Given the description of an element on the screen output the (x, y) to click on. 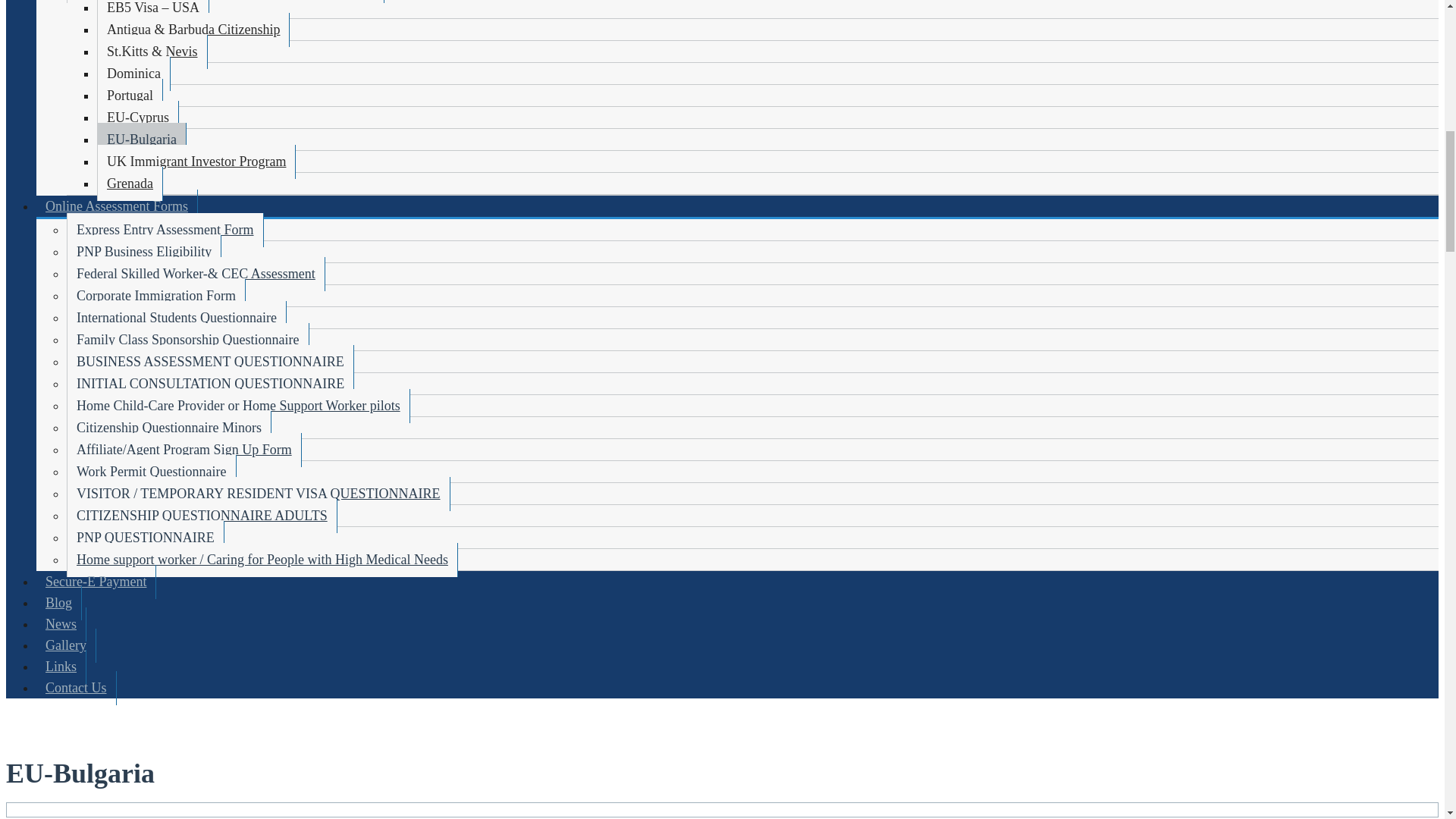
Dominica (133, 73)
